Given the description of an element on the screen output the (x, y) to click on. 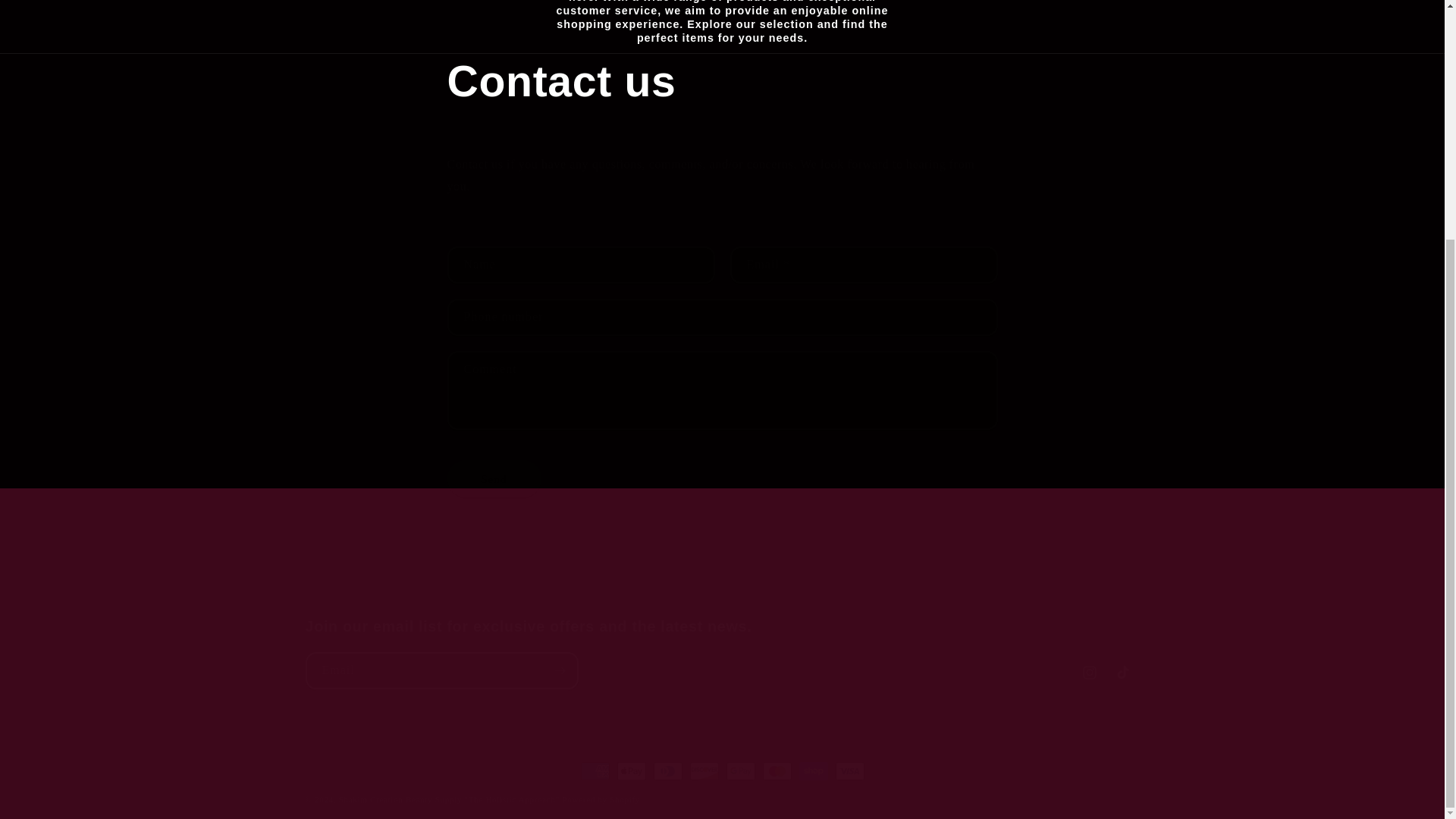
Contact us (721, 81)
